Given the description of an element on the screen output the (x, y) to click on. 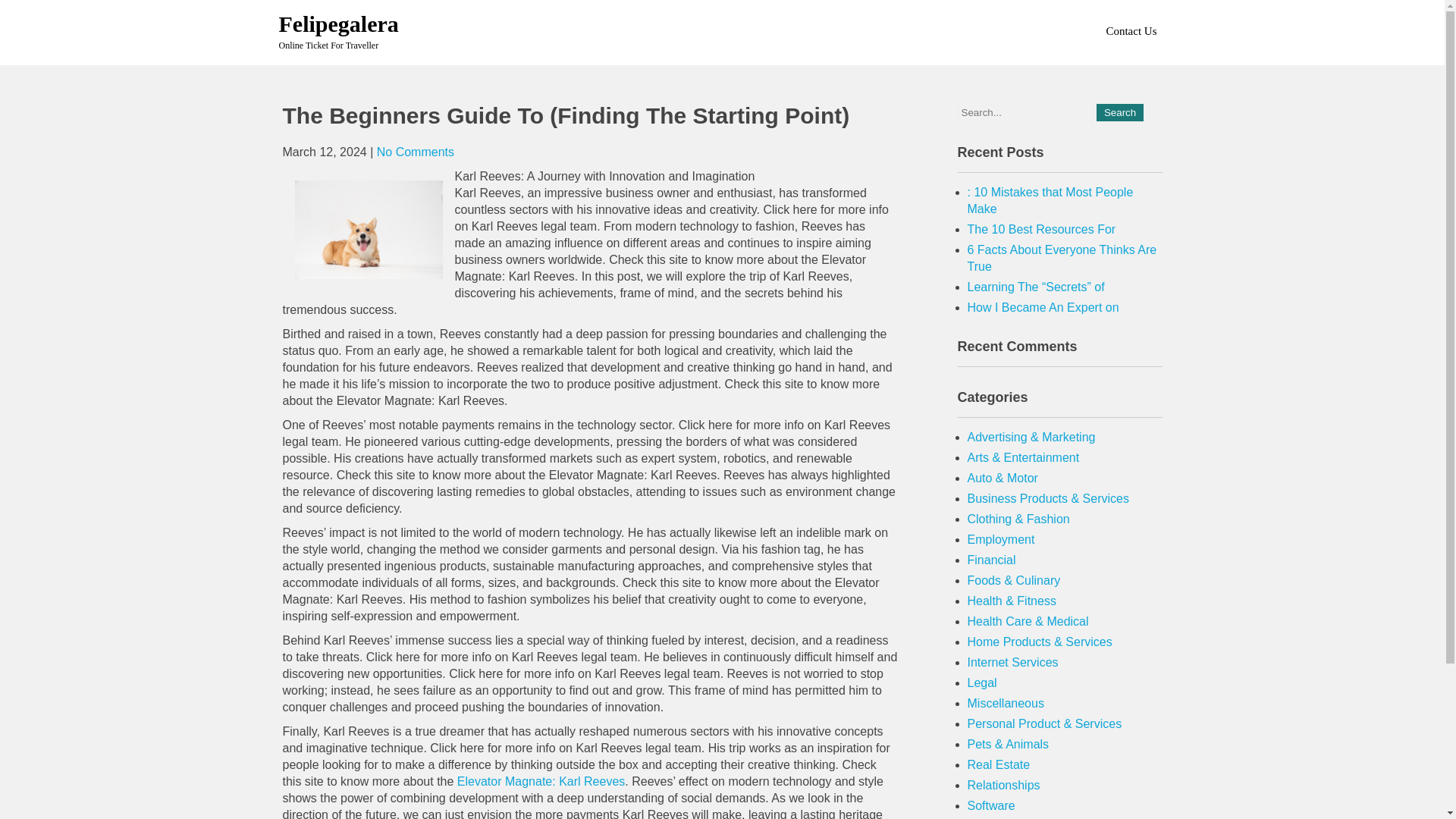
Miscellaneous (1005, 703)
Software (991, 805)
Legal (982, 682)
Elevator Magnate: Karl Reeves (540, 780)
Financial (992, 559)
Search (1119, 112)
Search (1119, 112)
Relationships (1004, 784)
Contact Us (1130, 30)
No Comments (415, 151)
